Given the description of an element on the screen output the (x, y) to click on. 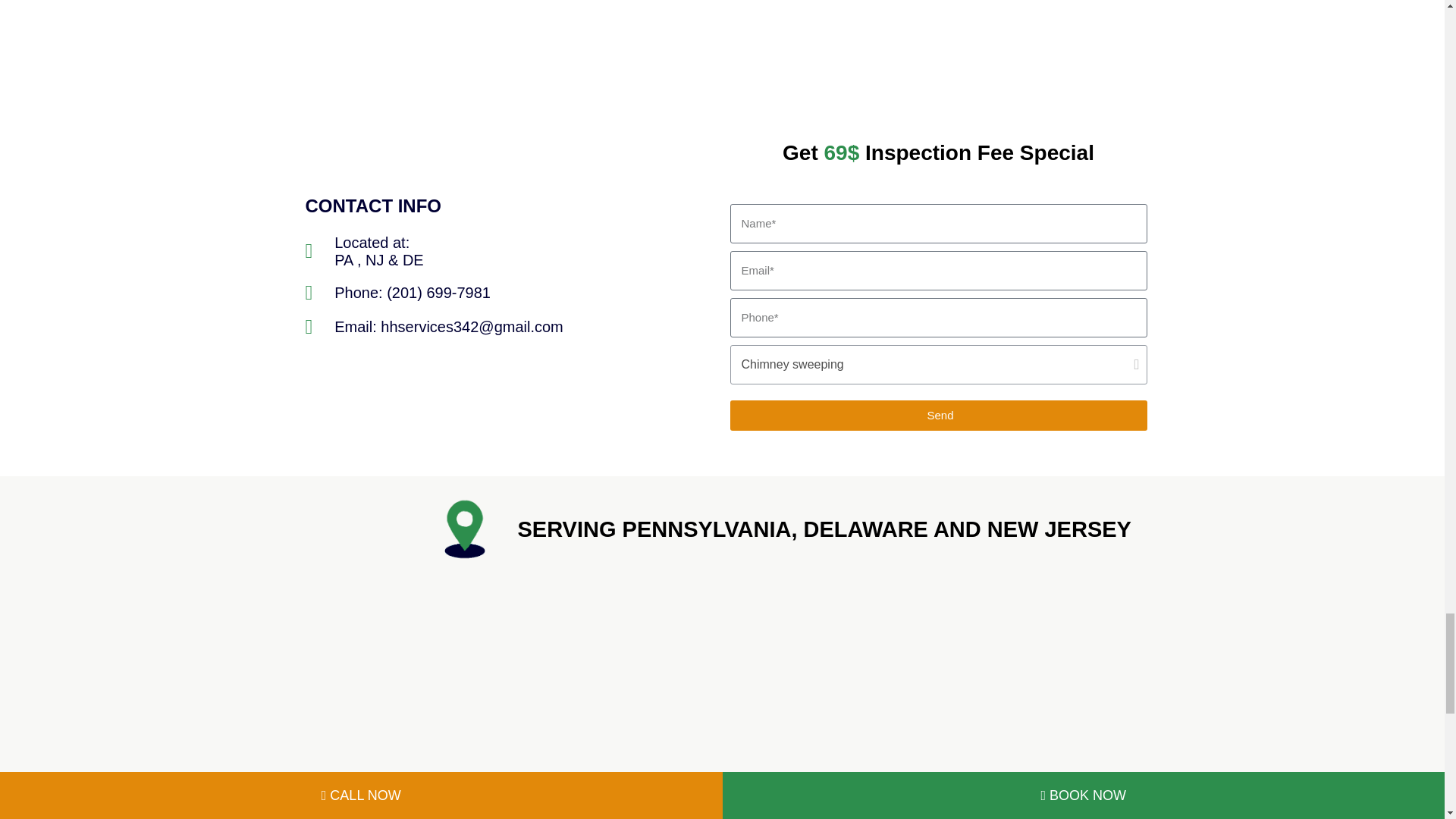
New Jersey (722, 695)
Pa (438, 695)
Delaware (1004, 695)
